Given the description of an element on the screen output the (x, y) to click on. 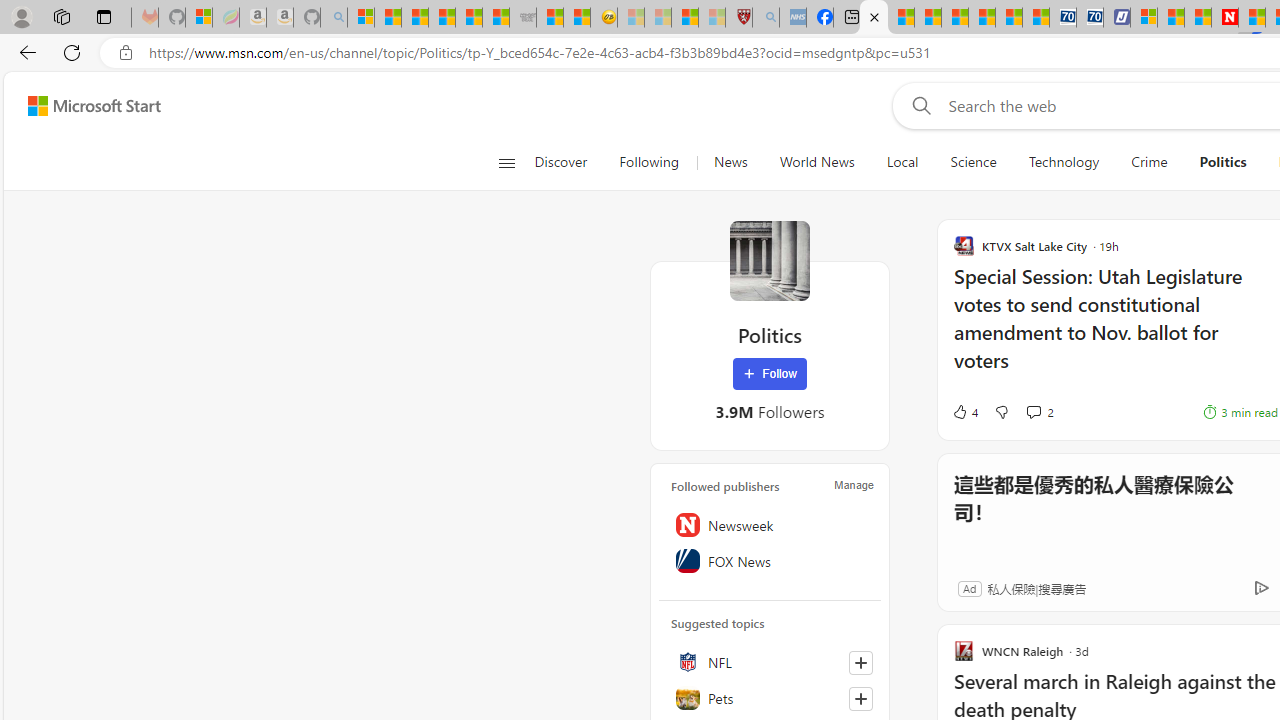
Newsweek (770, 525)
